Given the description of an element on the screen output the (x, y) to click on. 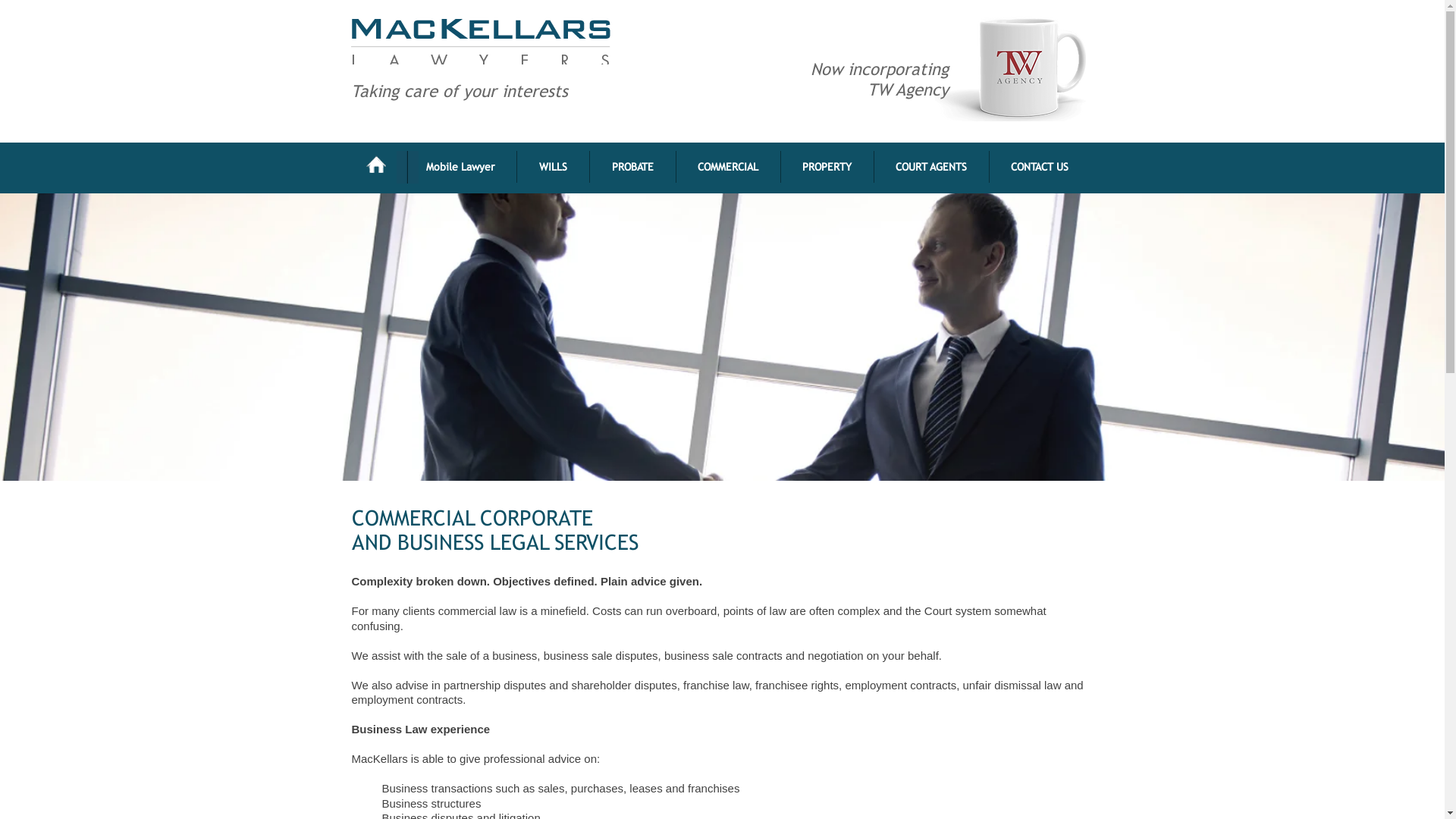
PROPERTY Element type: text (827, 166)
Mobile Lawyer Element type: text (459, 166)
WILLS Element type: text (553, 166)
CONTACT US Element type: text (1038, 166)
PROBATE Element type: text (632, 166)
COMMERCIAL Element type: text (728, 166)
COURT AGENTS Element type: text (930, 166)
